Given the description of an element on the screen output the (x, y) to click on. 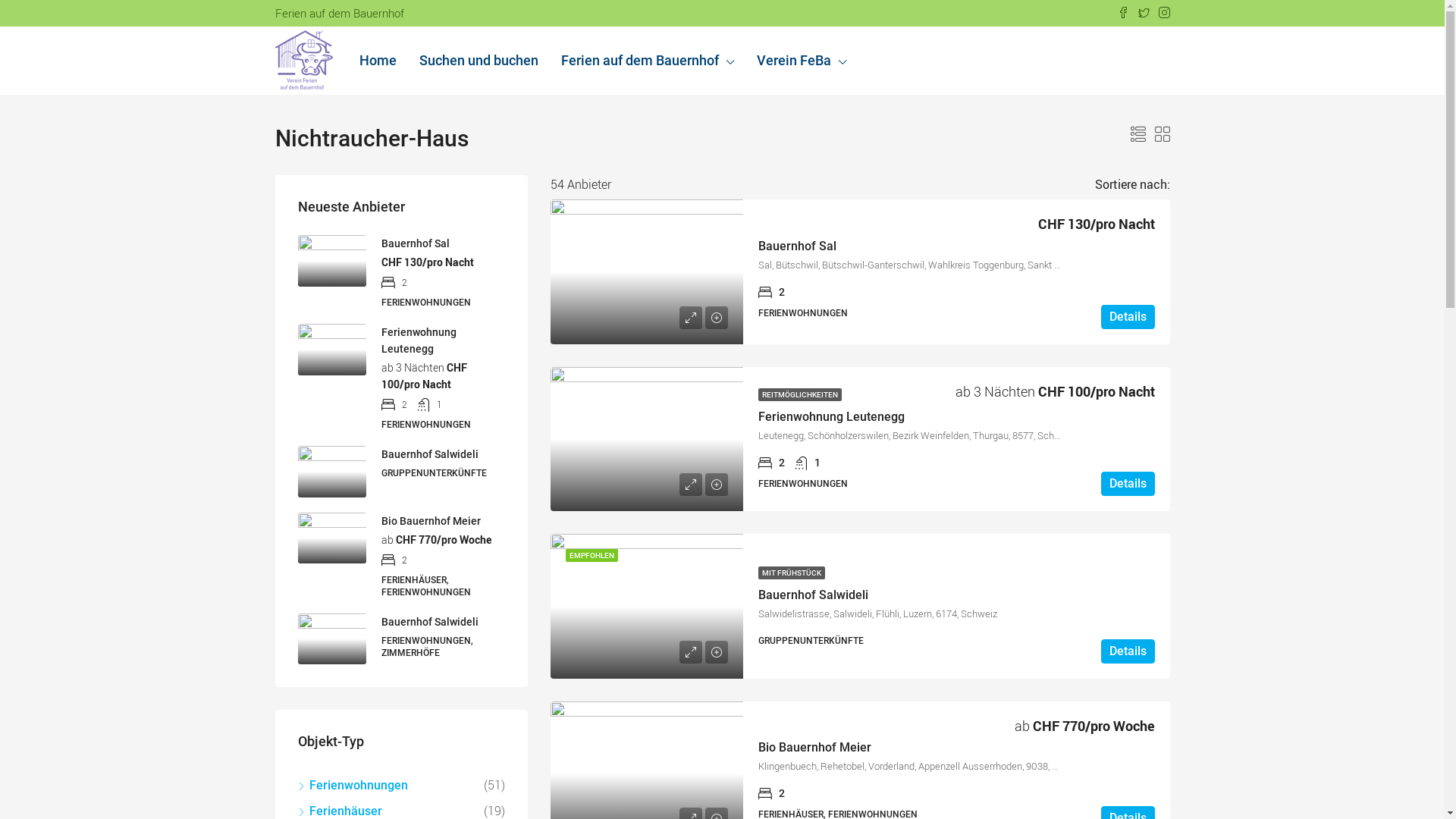
Bauernhof Sal Element type: text (414, 243)
Bauernhof Sal Element type: text (797, 245)
Details Element type: text (1127, 650)
Bio Bauernhof Meier Element type: text (430, 520)
Bio Bauernhof Meier Element type: text (814, 747)
Vorschau Element type: hover (690, 317)
Bauernhof Salwideli Element type: text (813, 594)
Suchen und buchen Element type: text (478, 60)
Verein FeBa Element type: text (800, 61)
Ferienwohnungen Element type: text (352, 785)
Vorschau Element type: hover (690, 651)
Details Element type: text (1127, 483)
Bauernhof Salwideli Element type: text (428, 621)
Details Element type: text (1127, 316)
Vorschau Element type: hover (690, 484)
Home Element type: text (377, 60)
Ferienwohnung Leutenegg Element type: text (831, 416)
Ferien auf dem Bauernhof Element type: text (646, 61)
Bauernhof Salwideli Element type: text (428, 454)
Ferienwohnung Leutenegg Element type: text (417, 340)
